Given the description of an element on the screen output the (x, y) to click on. 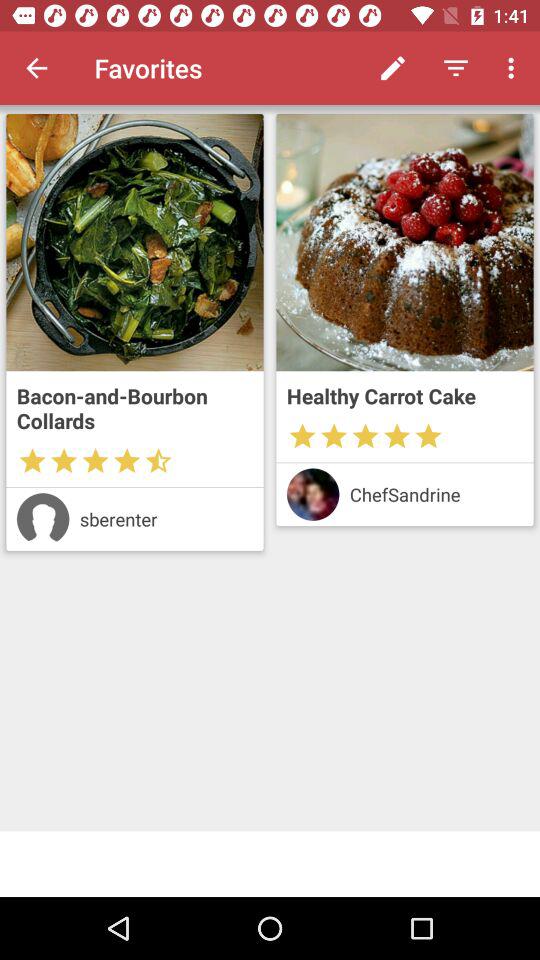
visit profile (312, 494)
